Given the description of an element on the screen output the (x, y) to click on. 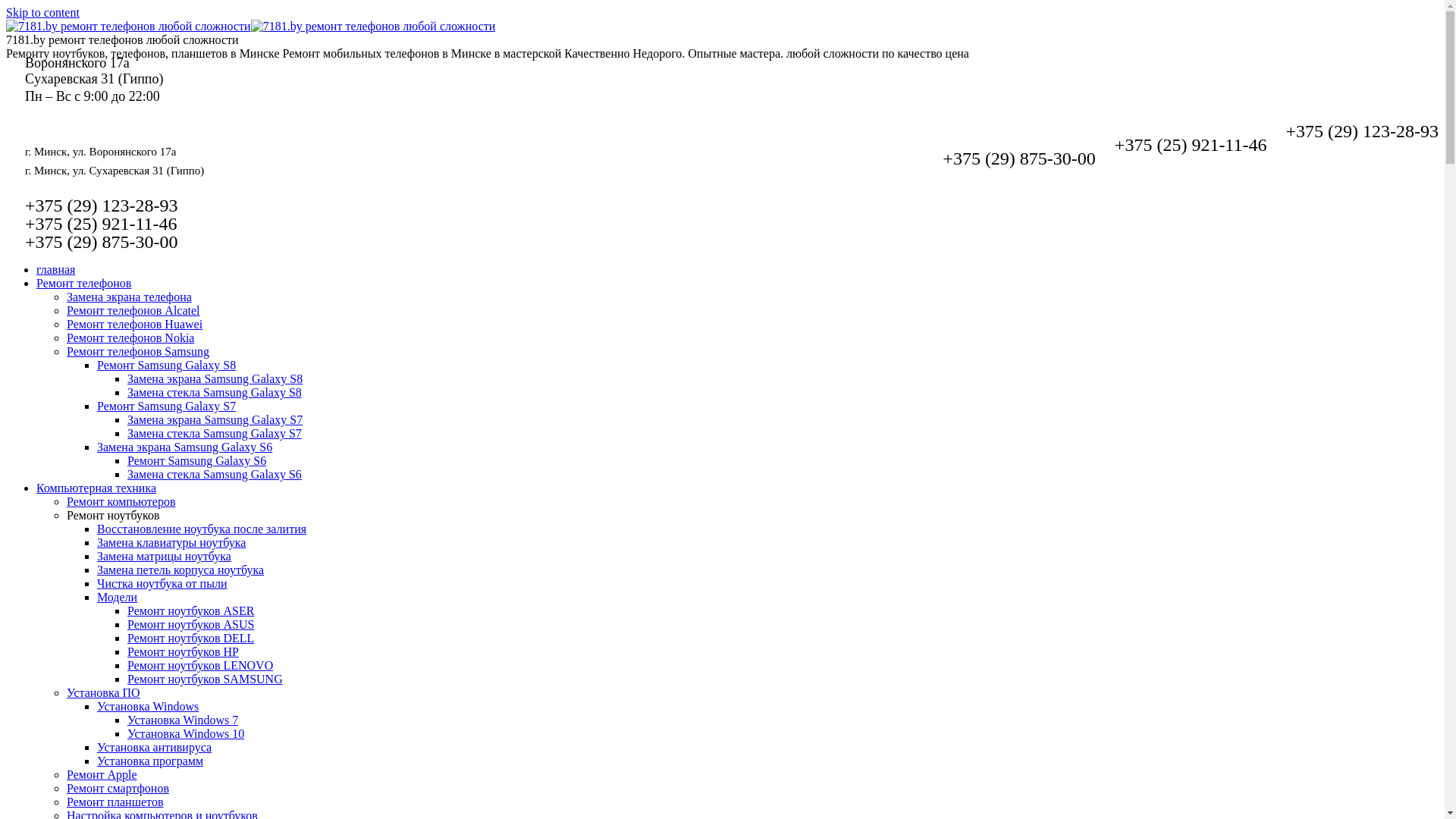
+375 (25) 921-11-46 Element type: text (1190, 144)
+375 (29) 123-28-93 Element type: text (101, 205)
+375 (29) 123-28-93 Element type: text (1361, 131)
Skip to content Element type: text (42, 12)
+375 (29) 875-30-00 Element type: text (1018, 158)
+375 (29) 875-30-00 Element type: text (101, 241)
+375 (25) 921-11-46 Element type: text (101, 223)
